Given the description of an element on the screen output the (x, y) to click on. 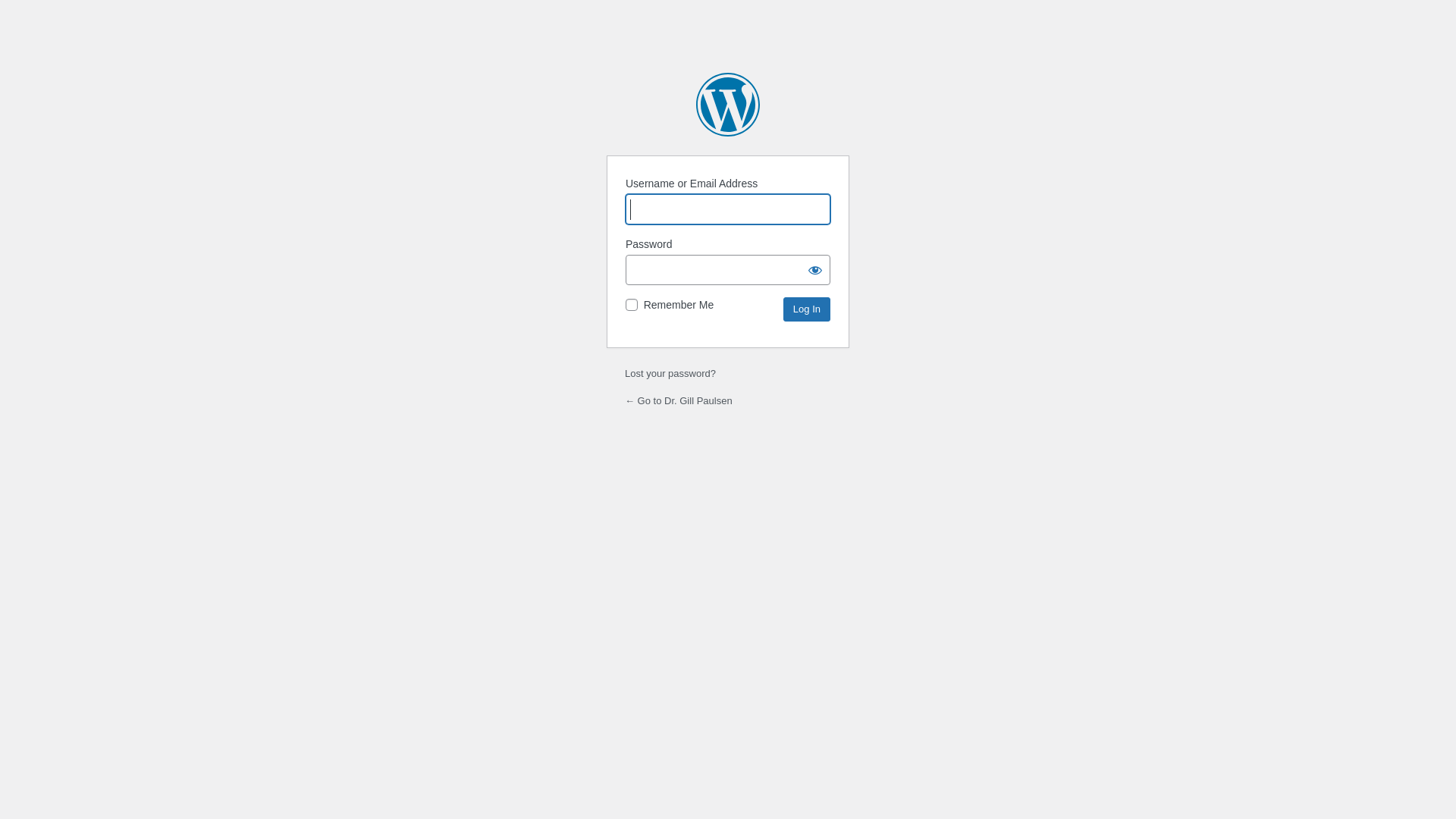
Powered by WordPress Element type: text (727, 104)
Lost your password? Element type: text (669, 373)
Log In Element type: text (806, 309)
